Given the description of an element on the screen output the (x, y) to click on. 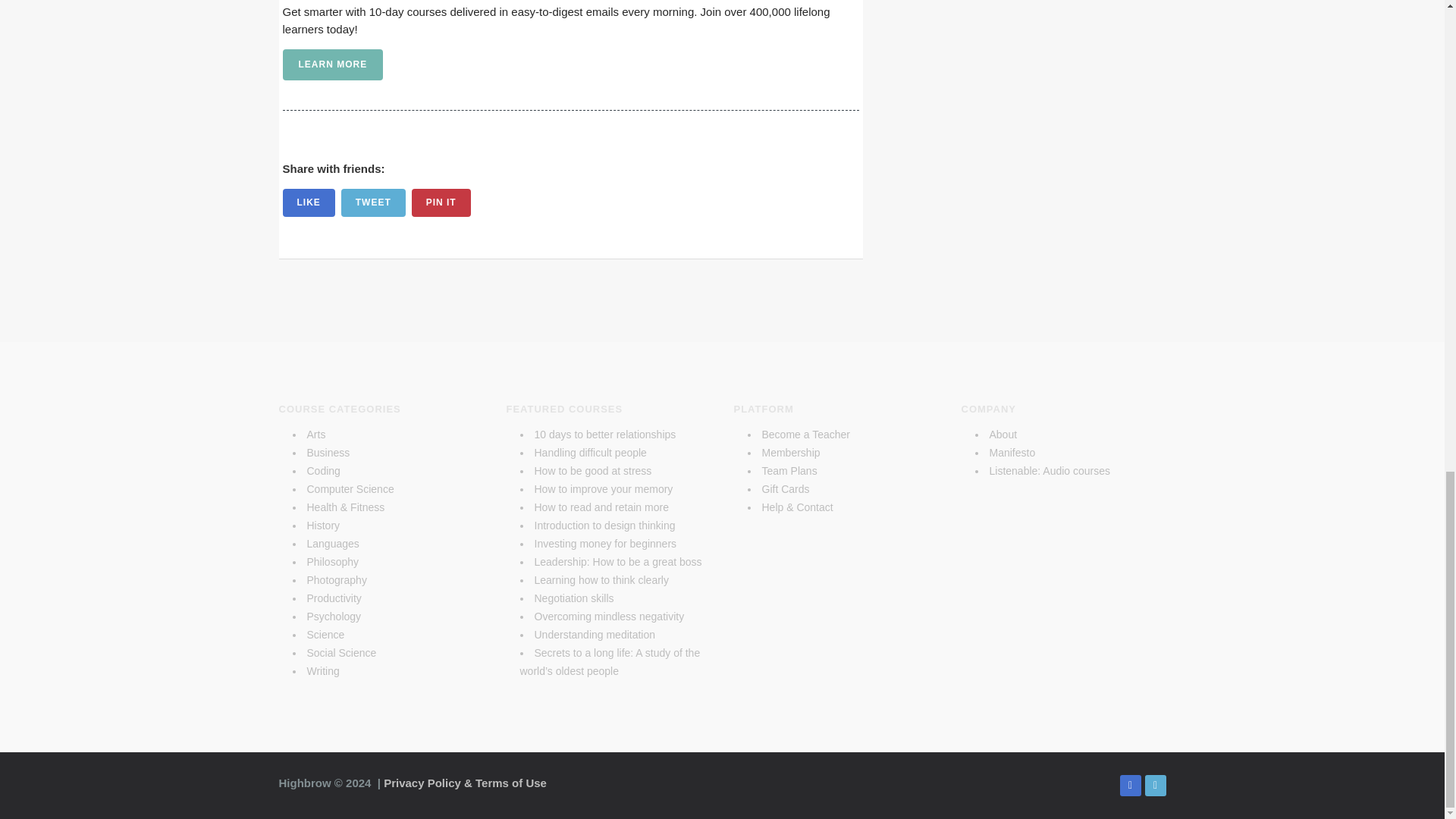
Computer Science (349, 489)
PIN IT (441, 203)
Science (324, 634)
Photography (335, 580)
TWEET (373, 203)
Coding (322, 470)
Arts (314, 434)
Productivity (333, 598)
History (322, 525)
Business (327, 452)
LIKE (308, 203)
LEARN MORE (332, 64)
Psychology (333, 616)
Philosophy (331, 562)
Languages (331, 543)
